Given the description of an element on the screen output the (x, y) to click on. 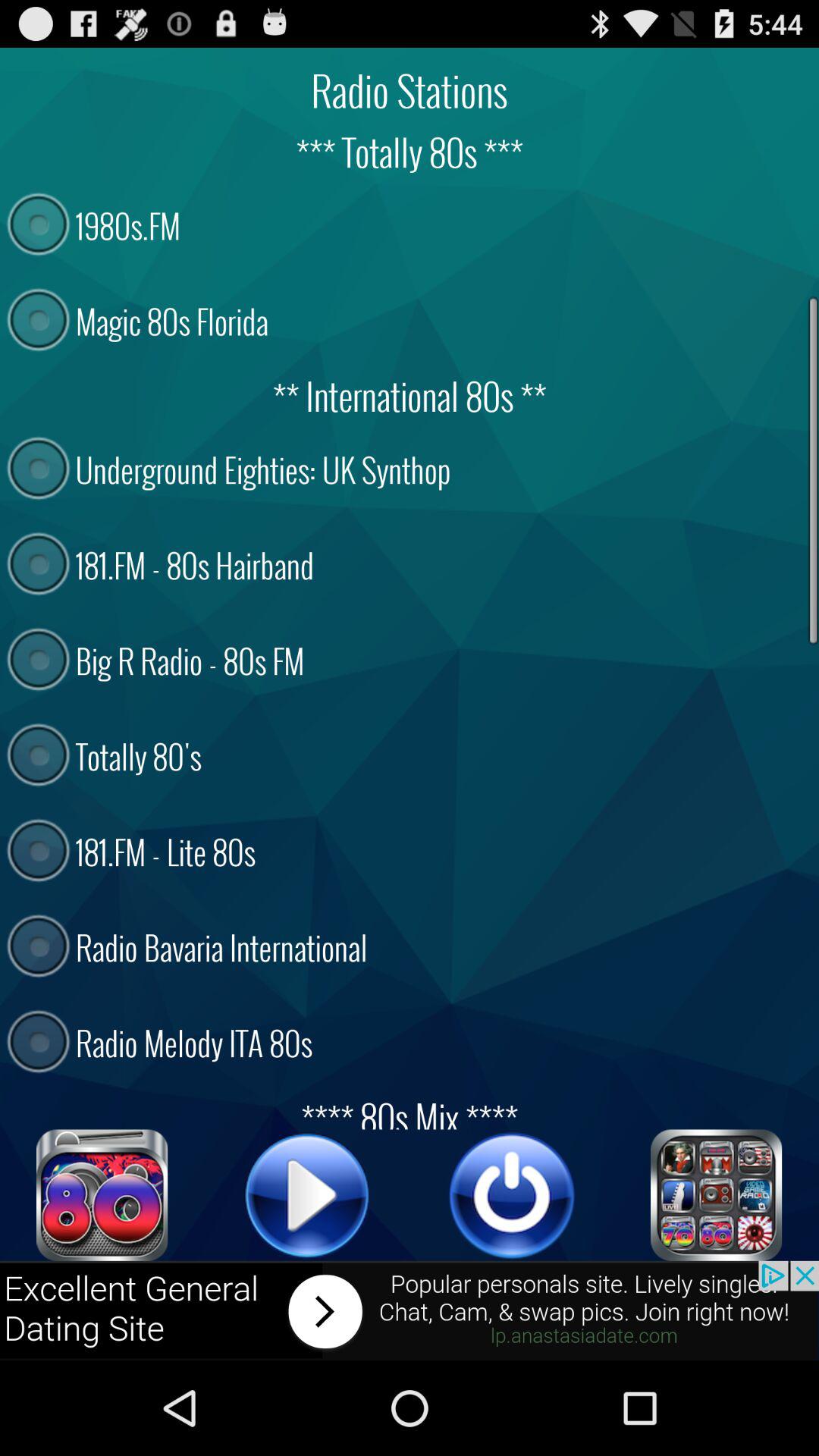
totally 80 's music (102, 1194)
